Given the description of an element on the screen output the (x, y) to click on. 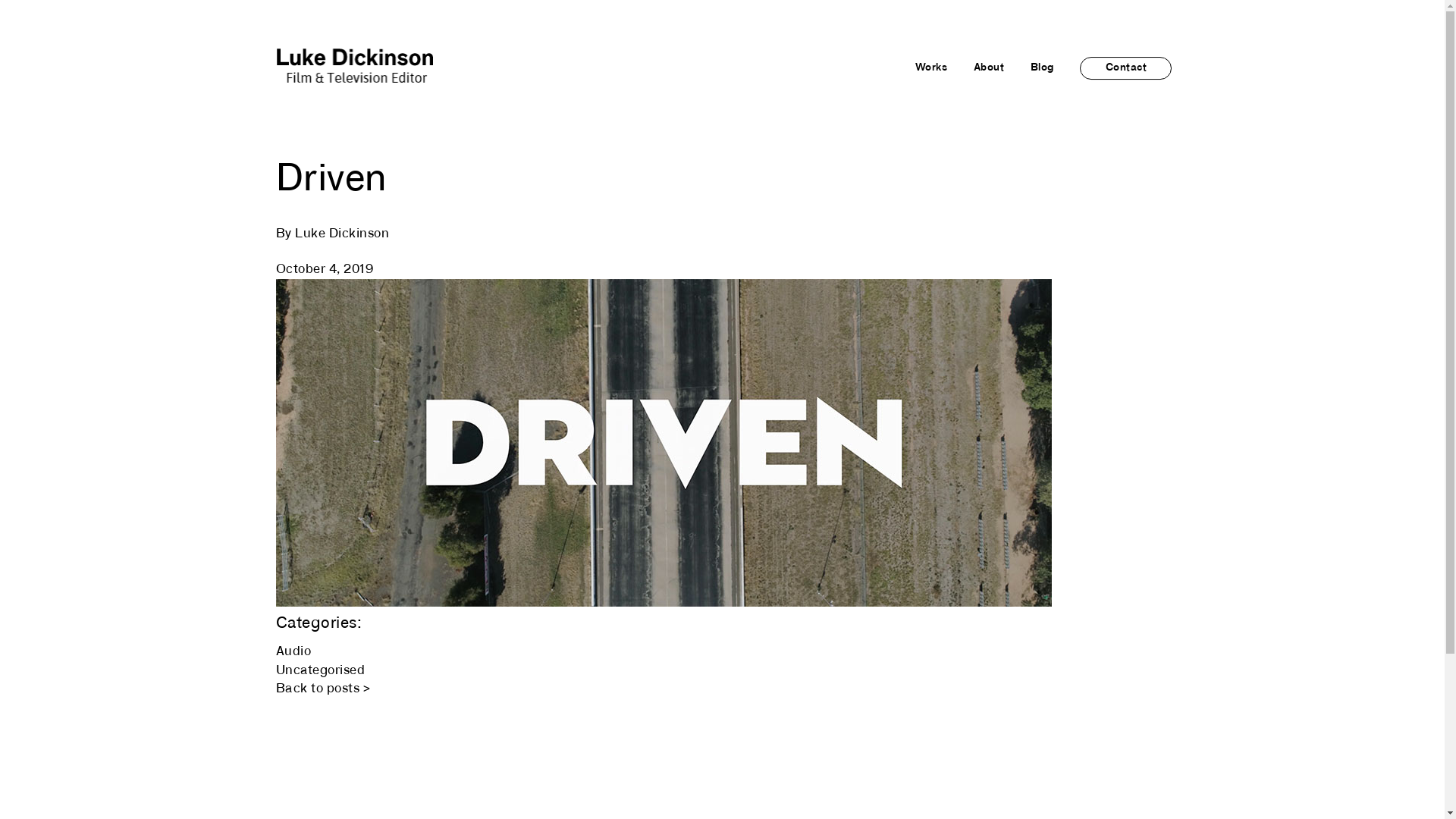
Works Element type: text (930, 67)
Audio Element type: text (293, 651)
About Element type: text (988, 67)
Back to posts > Element type: text (323, 688)
Contact Element type: text (1125, 67)
Blog Element type: text (1042, 67)
Uncategorised Element type: text (320, 670)
